Given the description of an element on the screen output the (x, y) to click on. 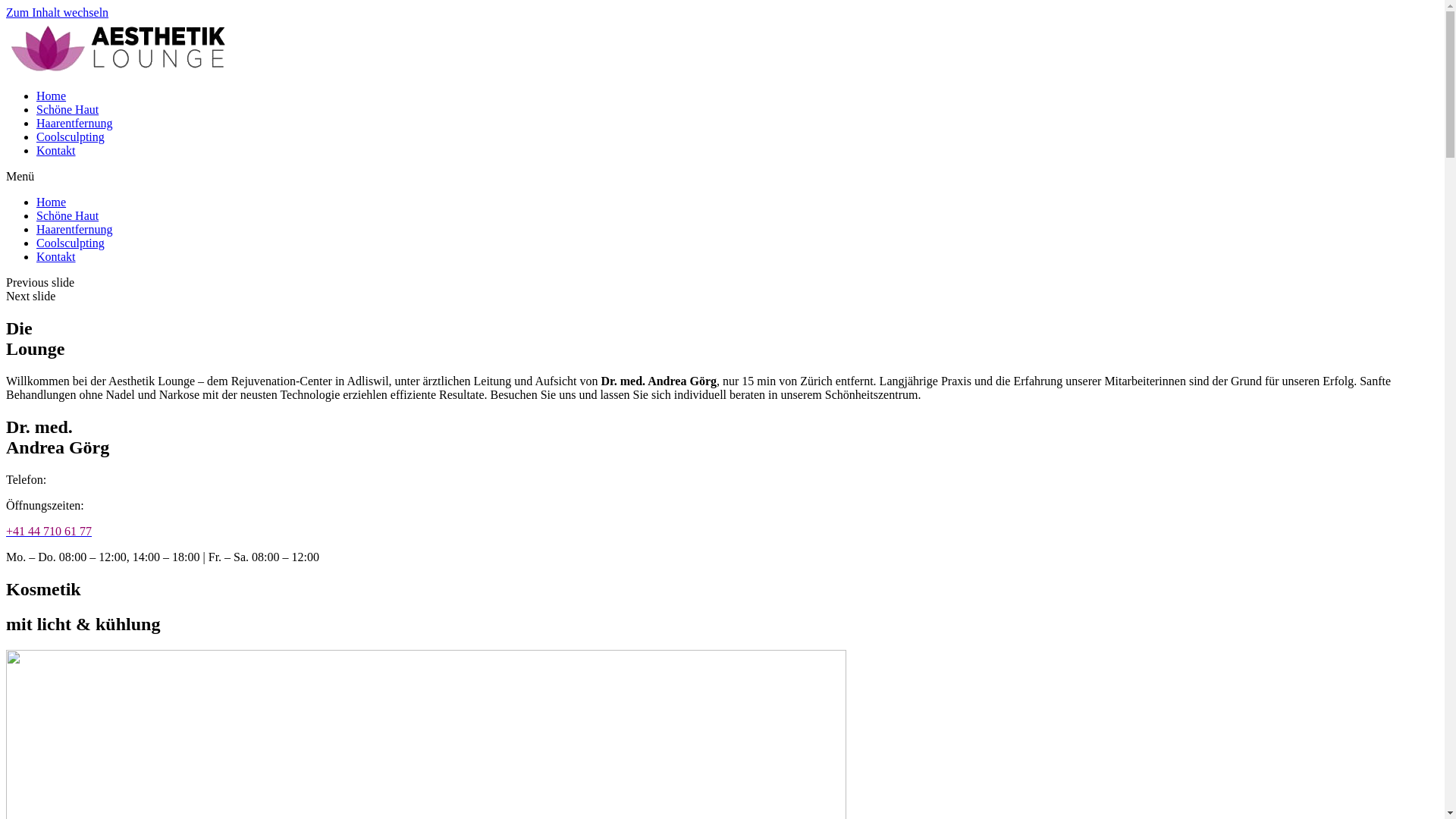
Haarentfernung Element type: text (74, 228)
Kontakt Element type: text (55, 256)
Zum Inhalt wechseln Element type: text (57, 12)
Home Element type: text (50, 201)
+41 44 710 61 77 Element type: text (48, 530)
Coolsculpting Element type: text (70, 242)
Kontakt Element type: text (55, 150)
Home Element type: text (50, 95)
Coolsculpting Element type: text (70, 136)
Haarentfernung Element type: text (74, 122)
